Given the description of an element on the screen output the (x, y) to click on. 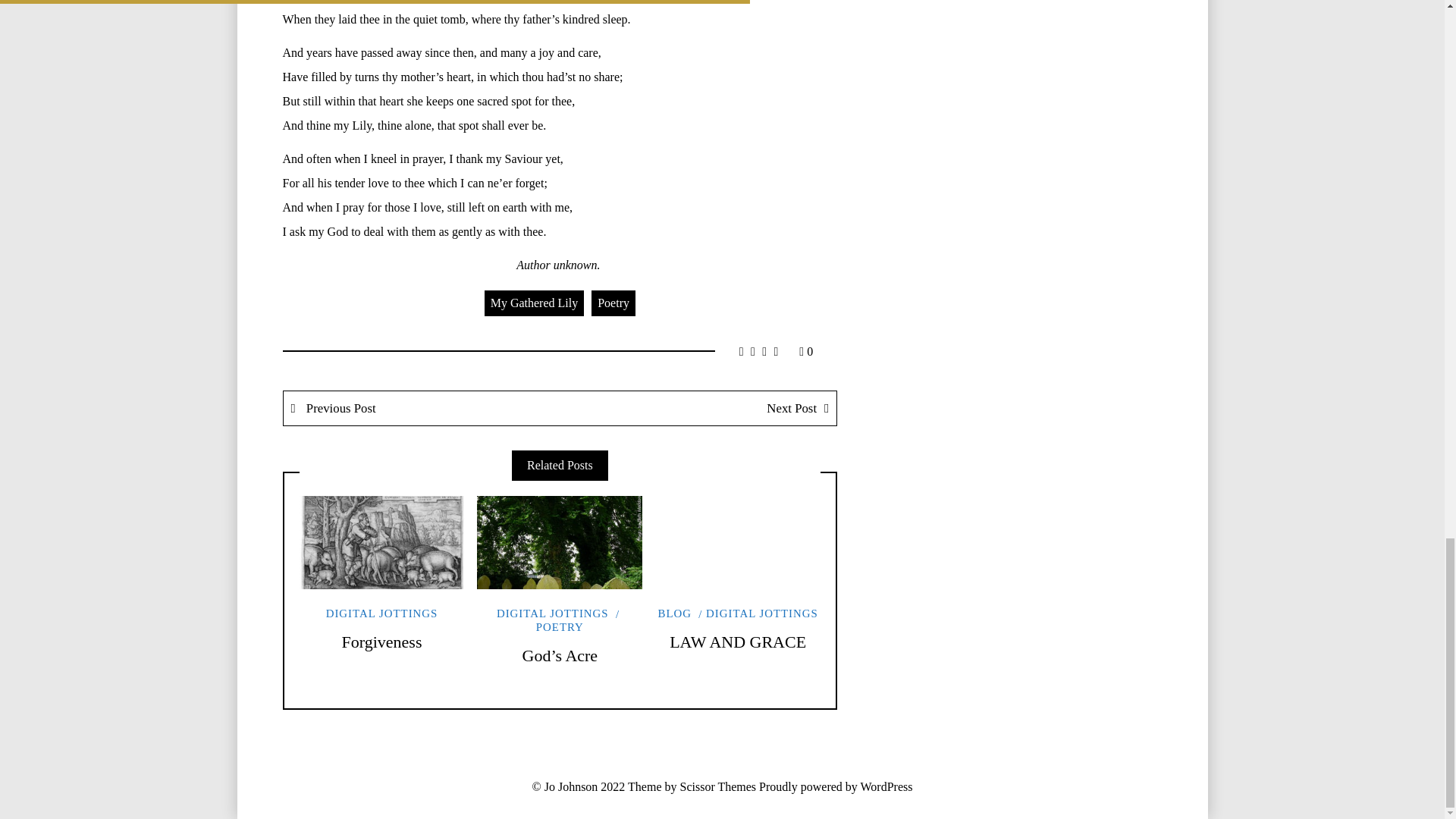
My Gathered Lily (534, 303)
POETRY (579, 620)
Permalink to: "Forgiveness" (381, 542)
BLOG (674, 613)
Previous Post (421, 408)
Next Post (697, 408)
DIGITAL JOTTINGS (552, 613)
Poetry (612, 303)
LAW AND GRACE (737, 641)
DIGITAL JOTTINGS (382, 613)
